Given the description of an element on the screen output the (x, y) to click on. 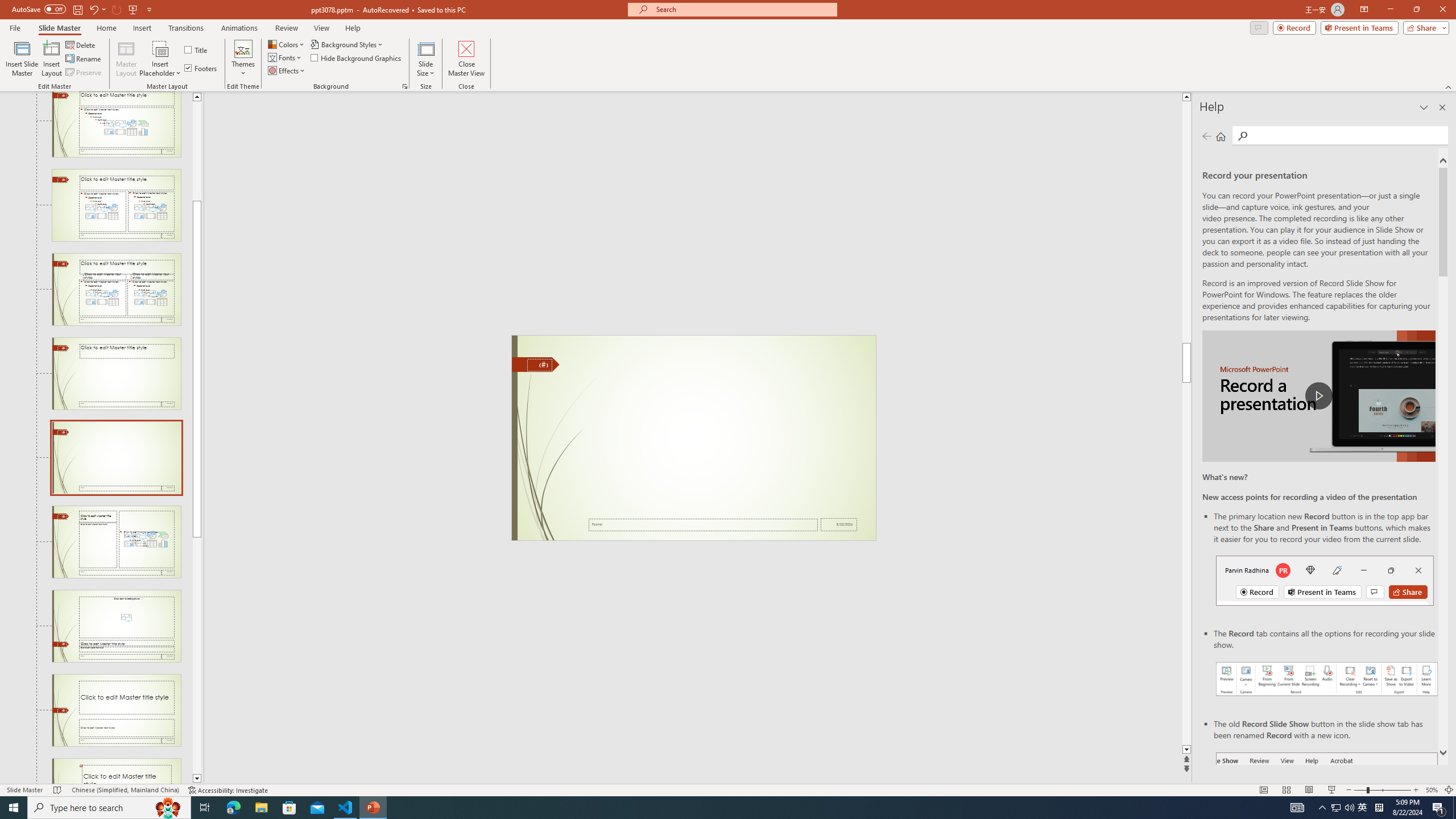
Slide Content with Caption Layout: used by no slides (116, 542)
Background Styles (347, 44)
Insert Slide Master (21, 58)
